Given the description of an element on the screen output the (x, y) to click on. 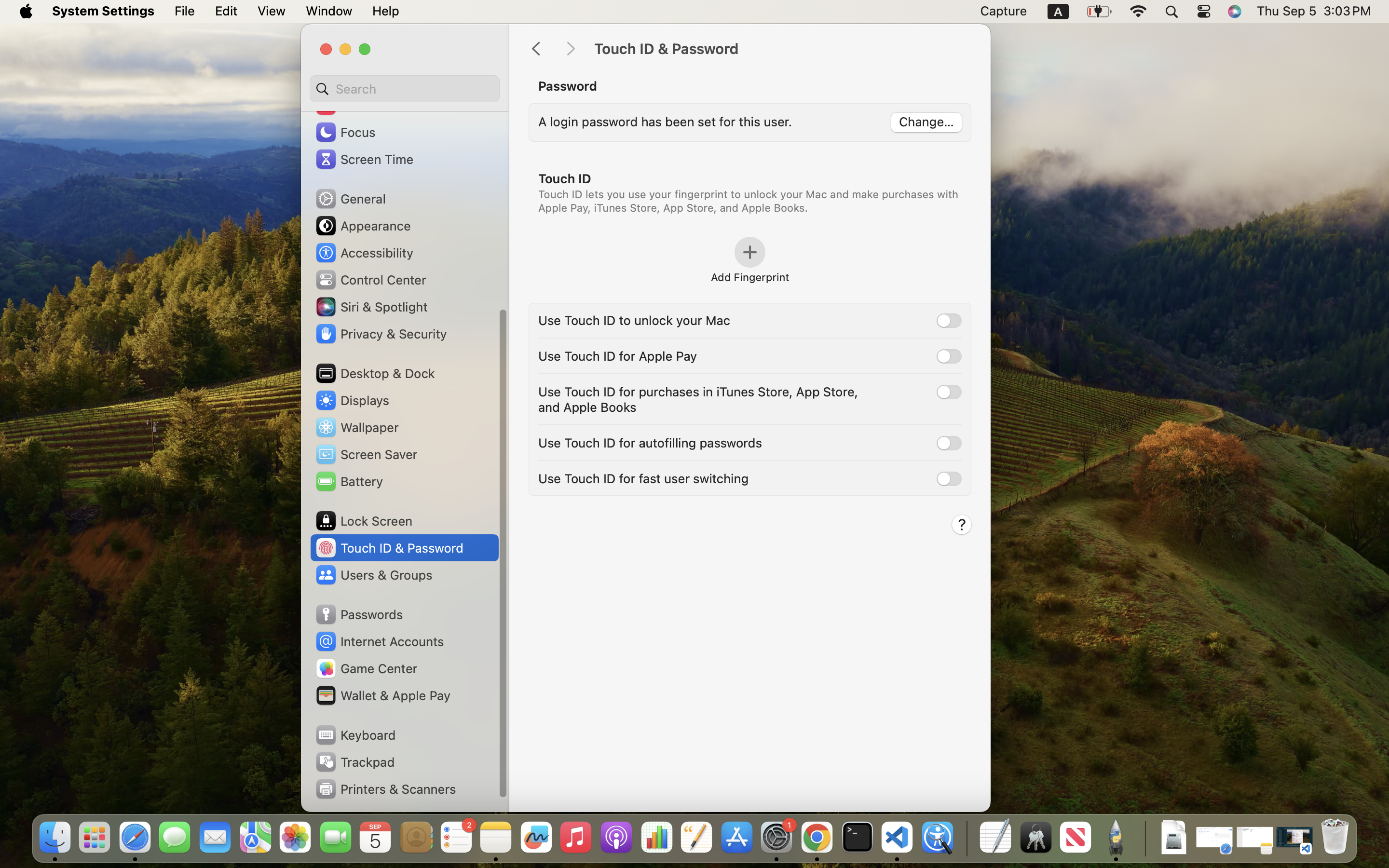
Use Touch ID for fast user switching Element type: AXStaticText (643, 478)
Printers & Scanners Element type: AXStaticText (385, 788)
General Element type: AXStaticText (349, 198)
Lock Screen Element type: AXStaticText (363, 520)
Siri & Spotlight Element type: AXStaticText (370, 306)
